Given the description of an element on the screen output the (x, y) to click on. 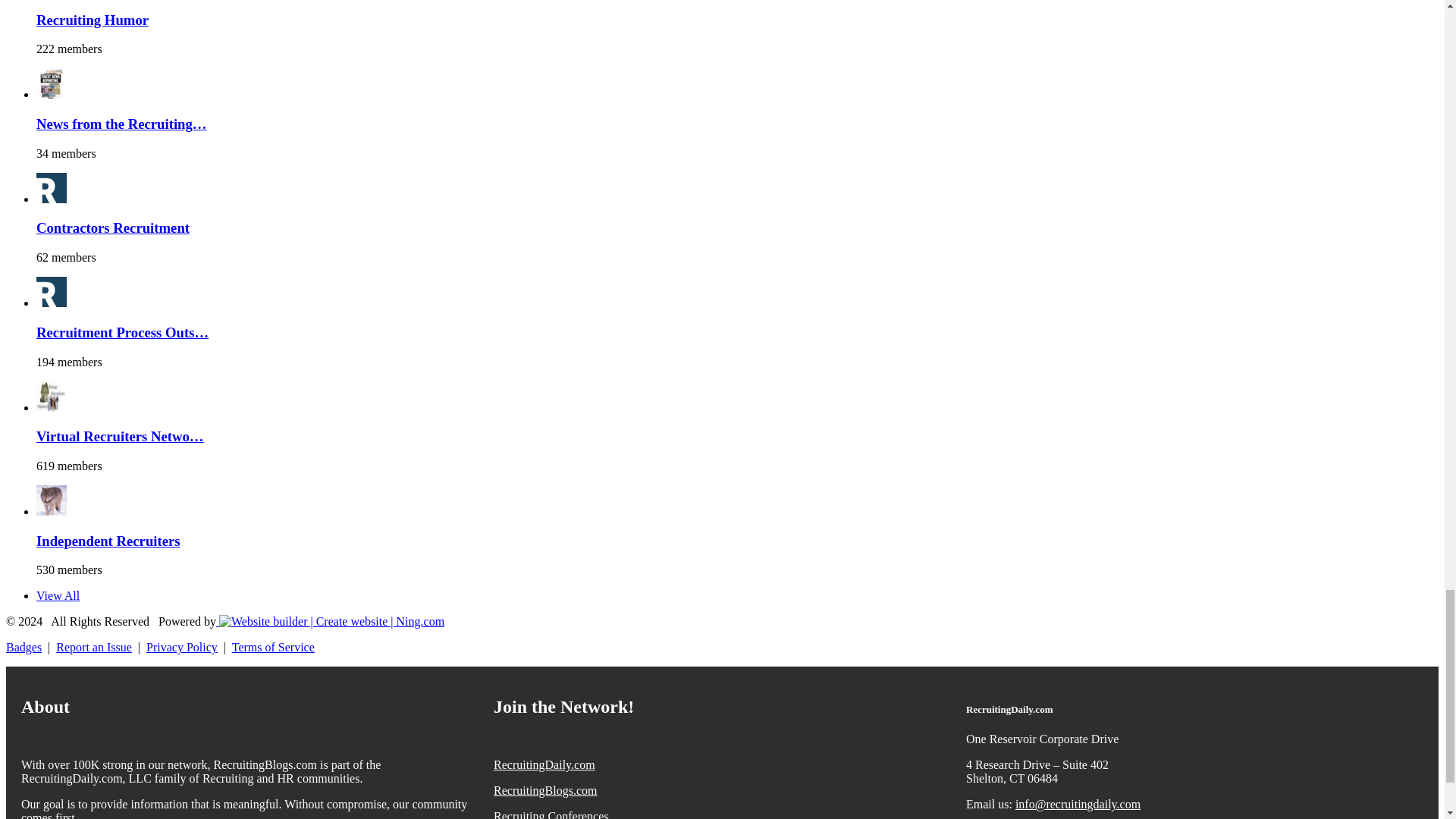
Ning Website Builder (331, 621)
